Given the description of an element on the screen output the (x, y) to click on. 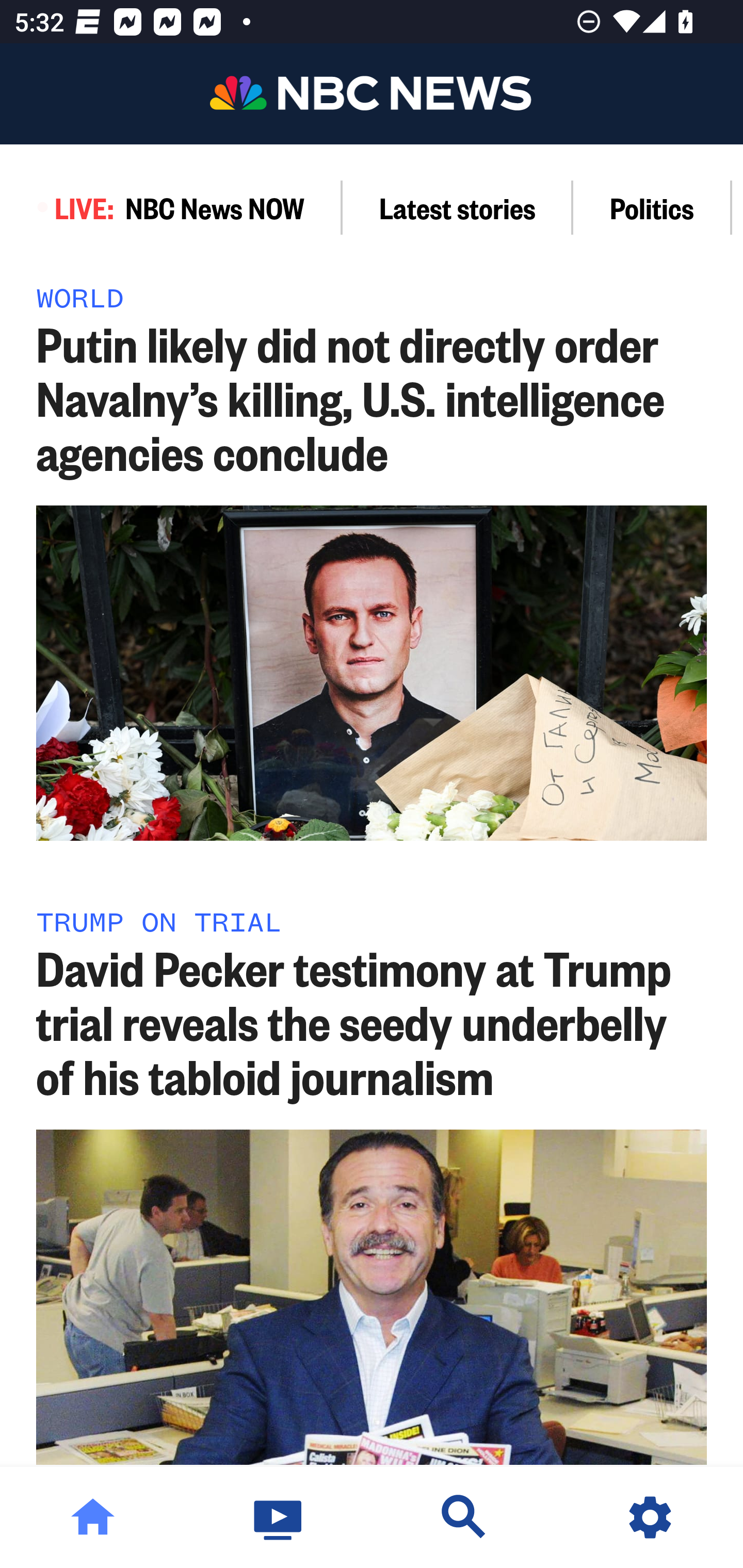
LIVE:  NBC News NOW (171, 207)
Latest stories Section,Latest stories (457, 207)
Politics Section,Politics (652, 207)
Watch (278, 1517)
Discover (464, 1517)
Settings (650, 1517)
